Given the description of an element on the screen output the (x, y) to click on. 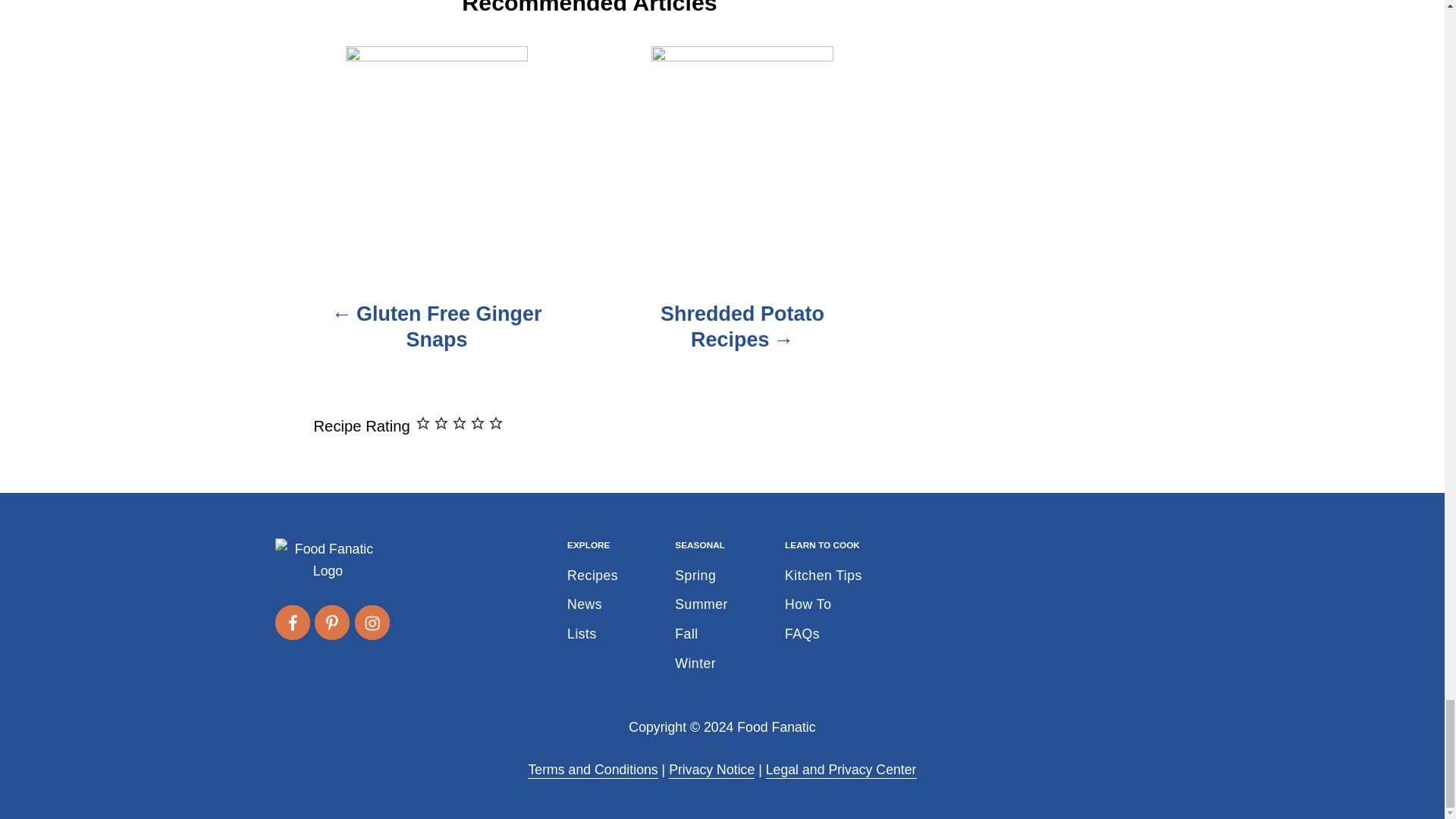
Follow on Facebook (291, 622)
Follow on Pinterest (331, 622)
Follow on Instagram (372, 622)
